Given the description of an element on the screen output the (x, y) to click on. 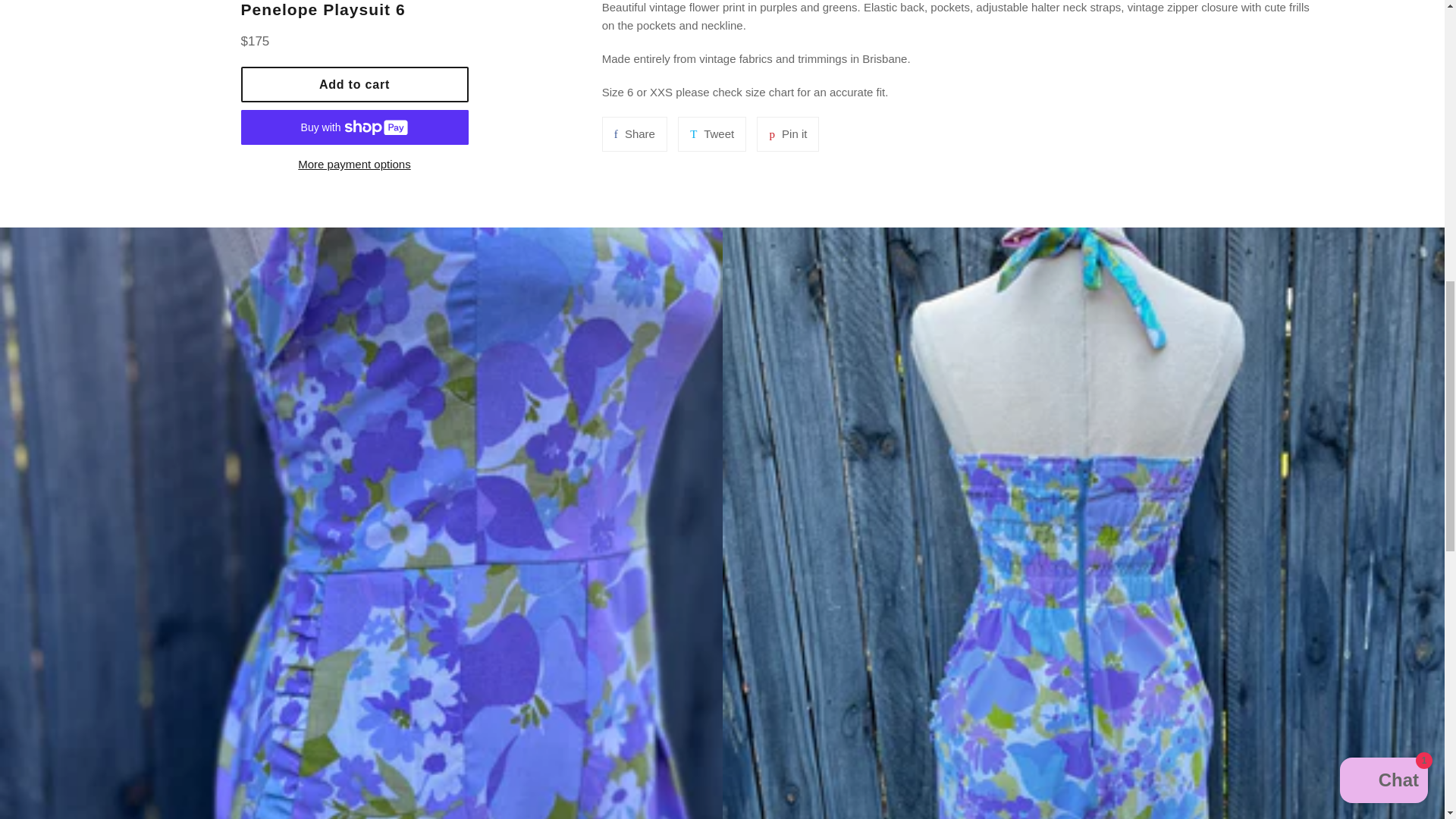
Tweet on Twitter (711, 134)
Pin on Pinterest (711, 134)
Add to cart (787, 134)
More payment options (354, 84)
Share on Facebook (354, 164)
